Given the description of an element on the screen output the (x, y) to click on. 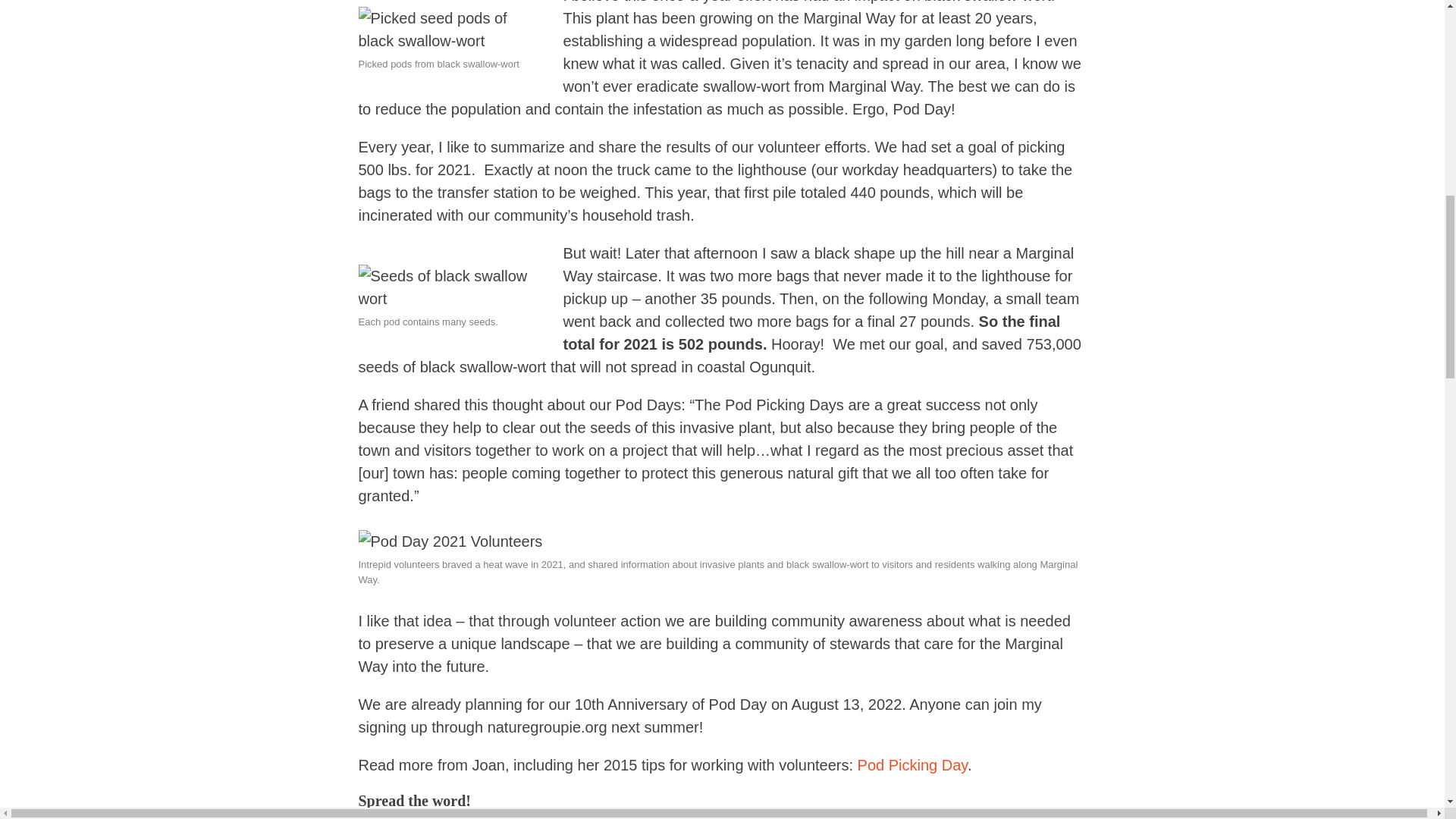
Pod Picking Day (912, 764)
